Given the description of an element on the screen output the (x, y) to click on. 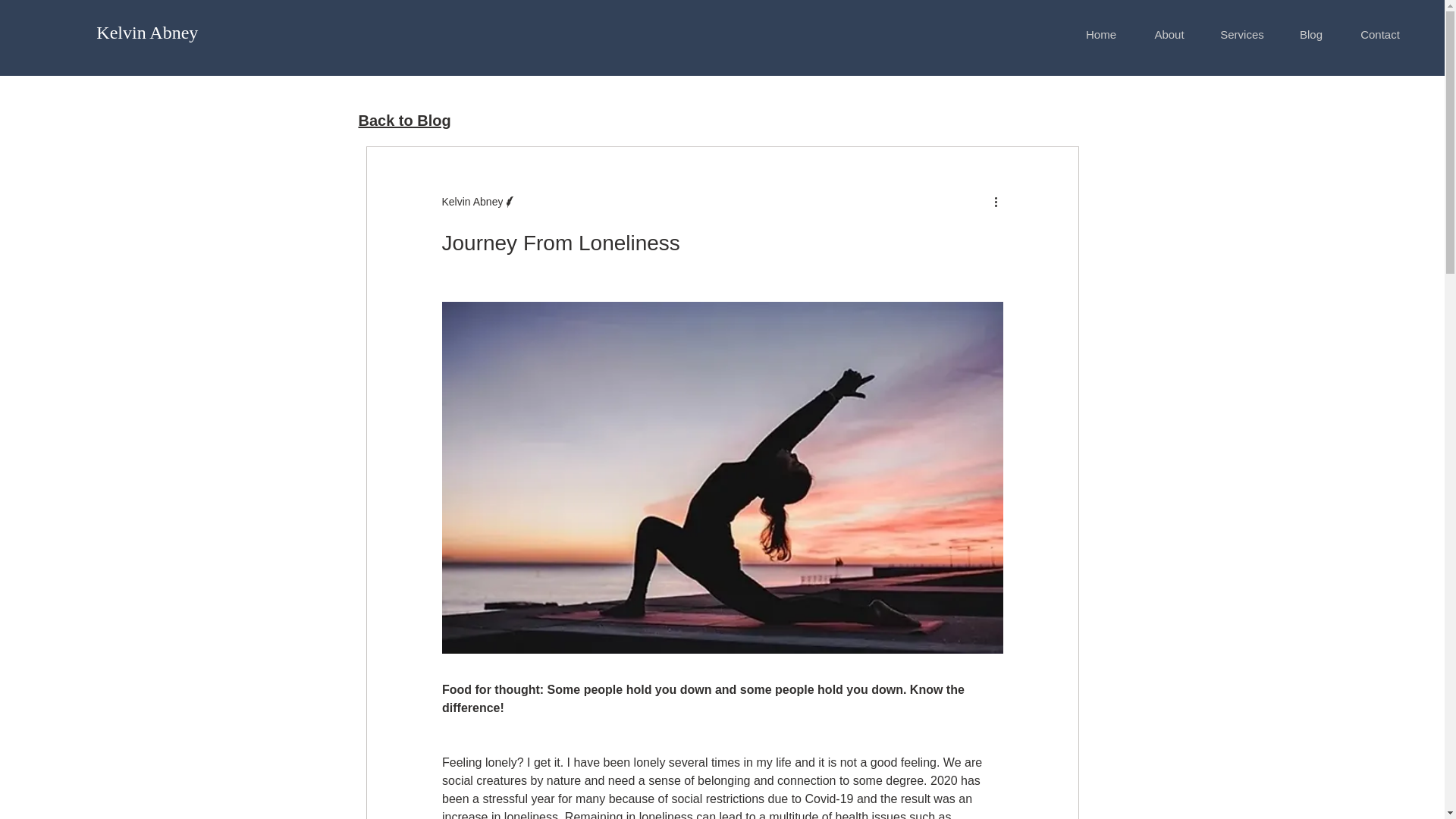
Blog (1310, 34)
Back to Blog (403, 120)
Kelvin Abney (478, 201)
Contact (1379, 34)
Kelvin Abney (147, 32)
Services (1242, 34)
About (1169, 34)
Home (1101, 34)
Kelvin Abney (471, 201)
